Given the description of an element on the screen output the (x, y) to click on. 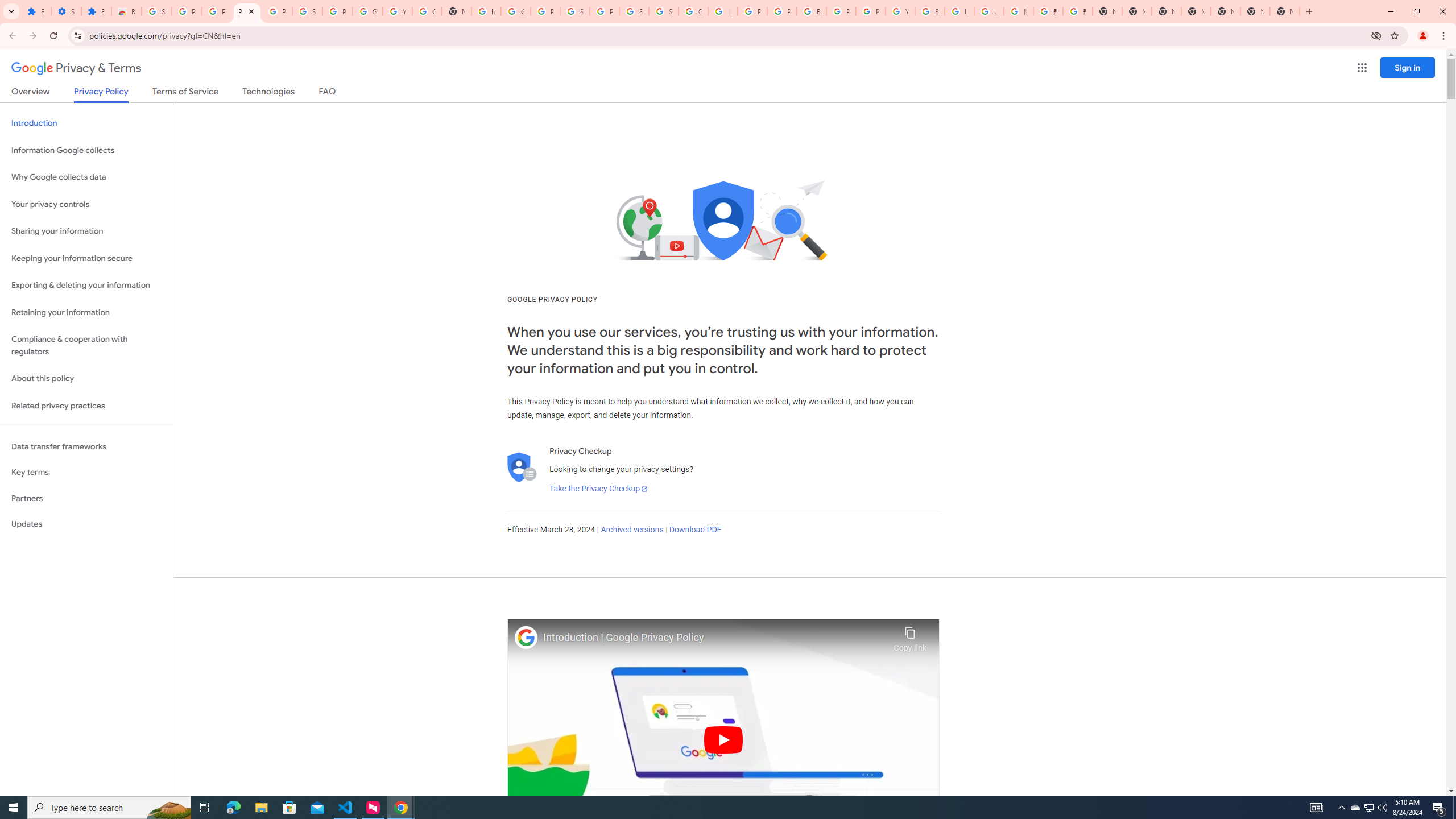
Compliance & cooperation with regulators (86, 345)
Sign in - Google Accounts (156, 11)
Take the Privacy Checkup (597, 488)
Keeping your information secure (86, 258)
Google Account (367, 11)
Sign in - Google Accounts (663, 11)
Privacy Help Center - Policies Help (751, 11)
